Given the description of an element on the screen output the (x, y) to click on. 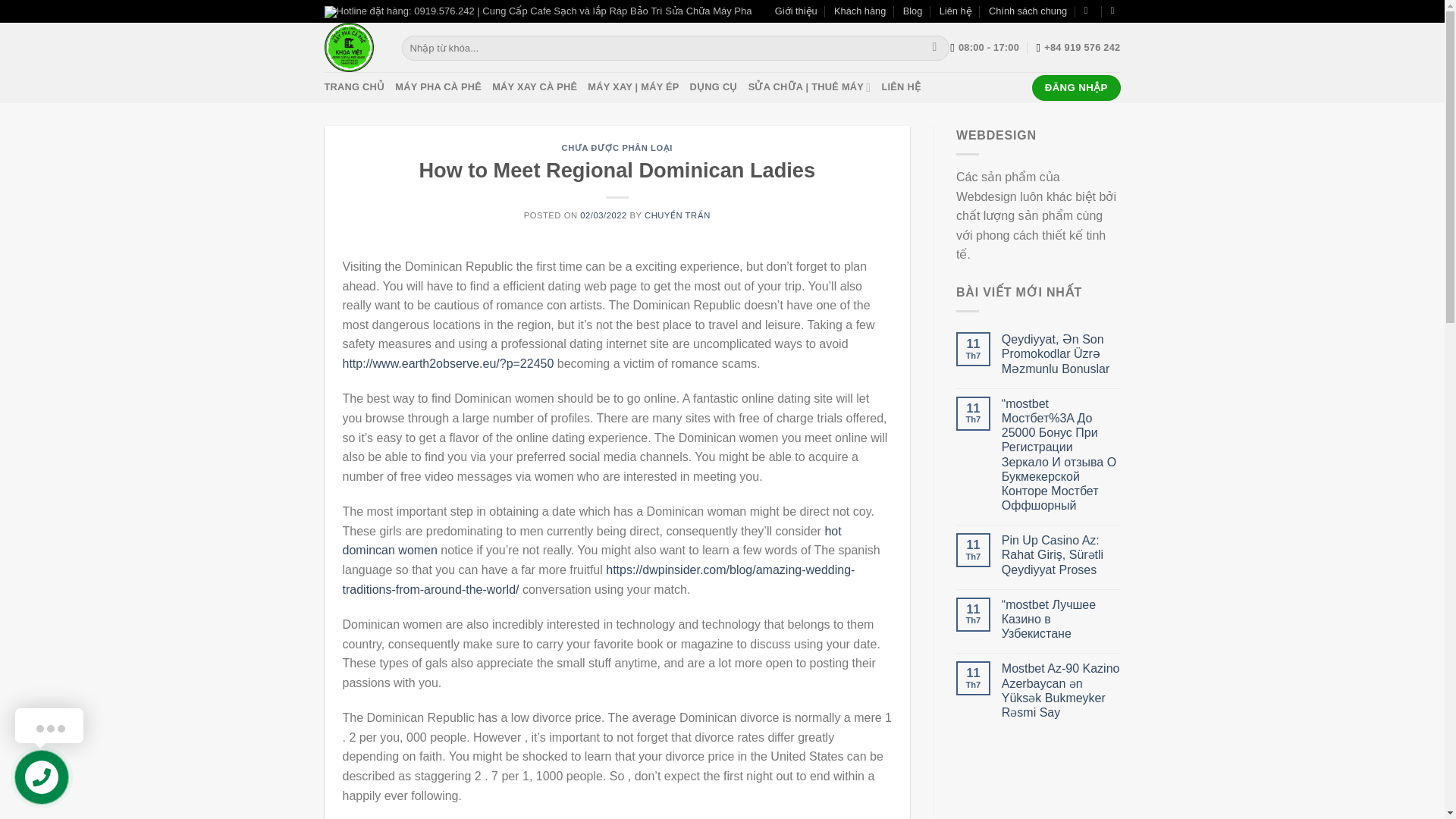
Blog (912, 11)
08:00 - 17:00 (984, 47)
hot domincan women (591, 540)
